Given the description of an element on the screen output the (x, y) to click on. 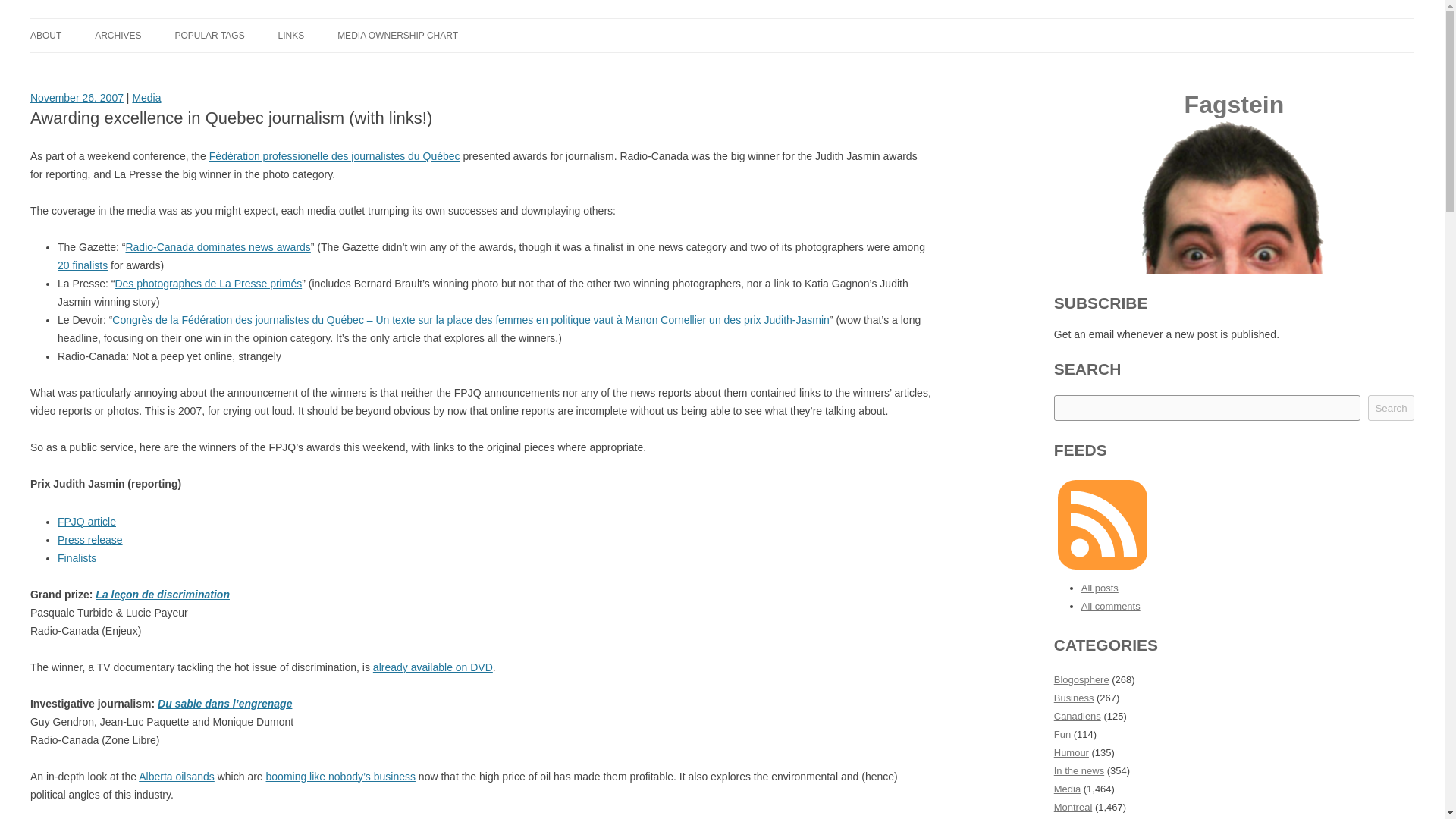
Alberta oilsands (176, 776)
ARCHIVES (117, 35)
Fagstein (71, 36)
ABOUT (45, 35)
20 finalists (82, 265)
POPULAR TAGS (209, 35)
MEDIA OWNERSHIP CHART (397, 35)
Press release (90, 539)
already available on DVD (432, 666)
November 26, 2007 (76, 97)
Radio-Canada dominates news awards (217, 246)
FPJQ article (87, 521)
12:40 am (76, 97)
Finalists (77, 558)
